Given the description of an element on the screen output the (x, y) to click on. 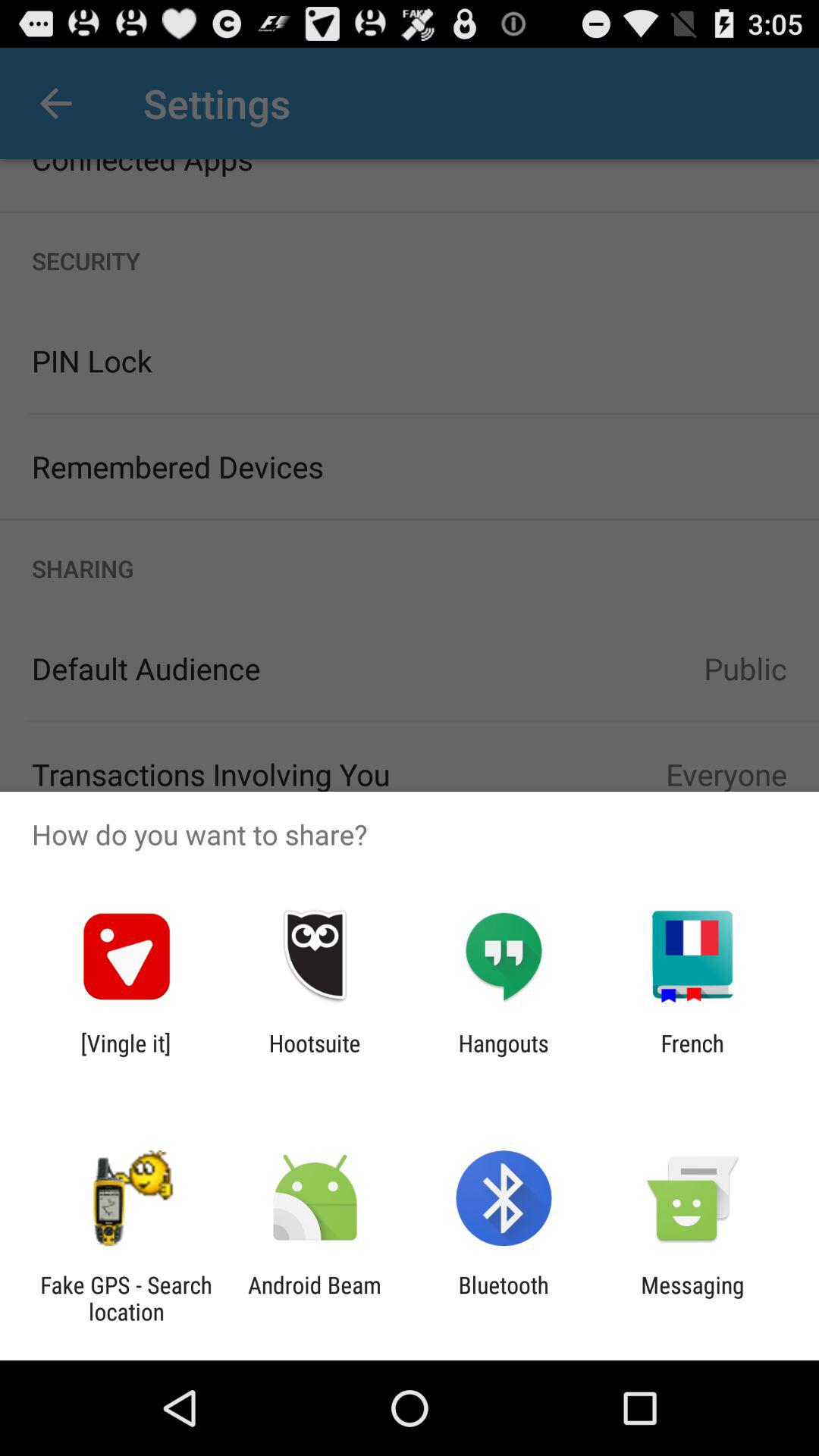
flip to the hootsuite (314, 1056)
